Given the description of an element on the screen output the (x, y) to click on. 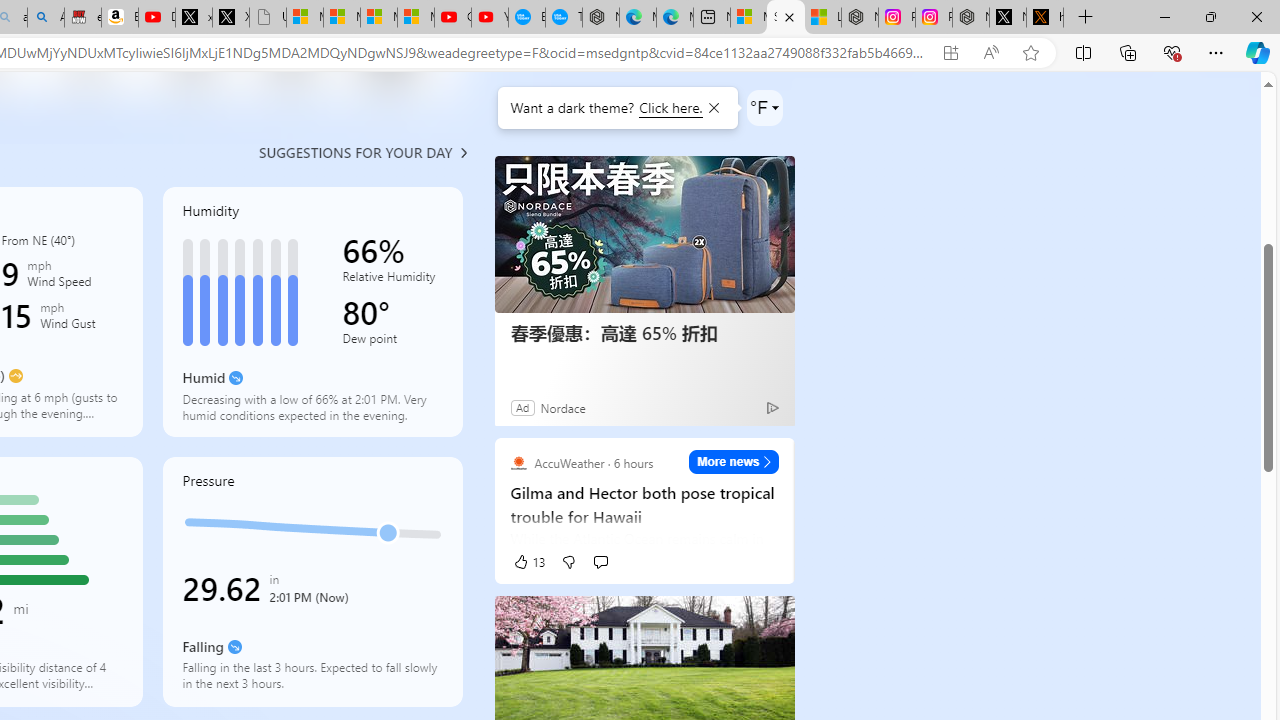
Weather settings Want a dark theme?Click here. (764, 107)
Gloom - YouTube (453, 17)
Humidity (312, 312)
